Given the description of an element on the screen output the (x, y) to click on. 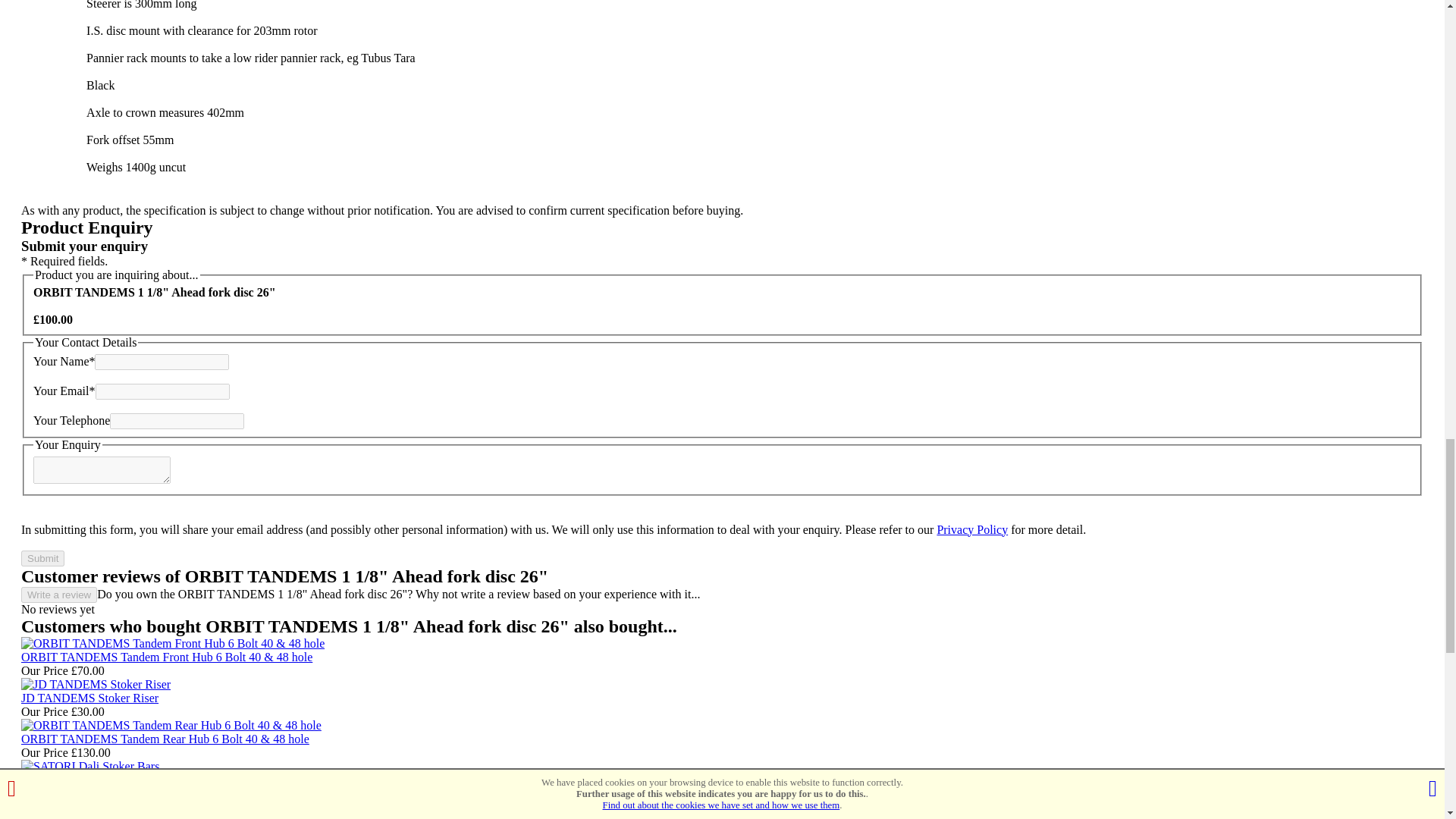
Write a review (59, 594)
Submit (42, 558)
